Given the description of an element on the screen output the (x, y) to click on. 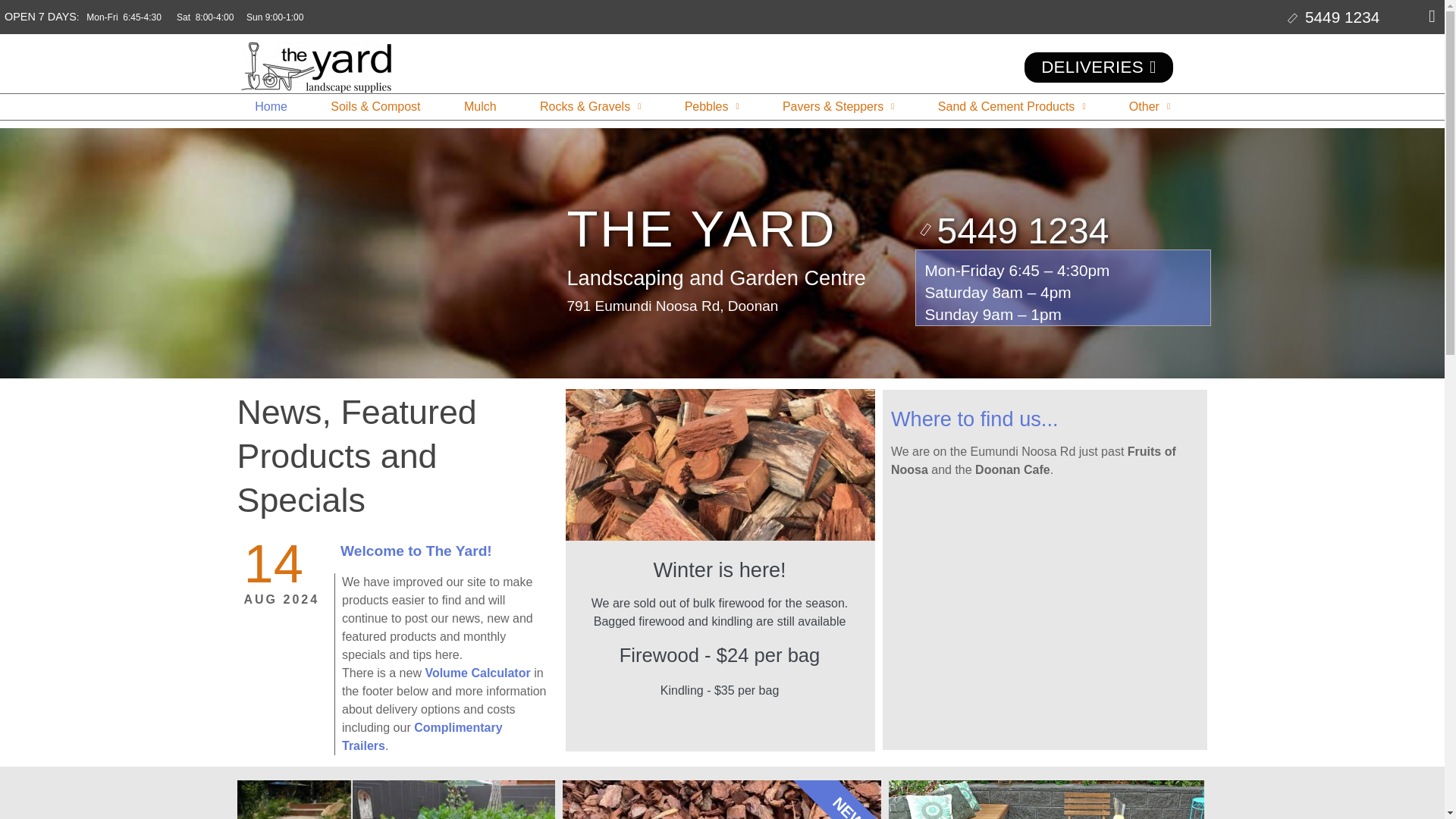
Other (1149, 106)
Home (270, 106)
Pebbles (711, 106)
Mulch (480, 106)
DELIVERIES (1098, 67)
